Given the description of an element on the screen output the (x, y) to click on. 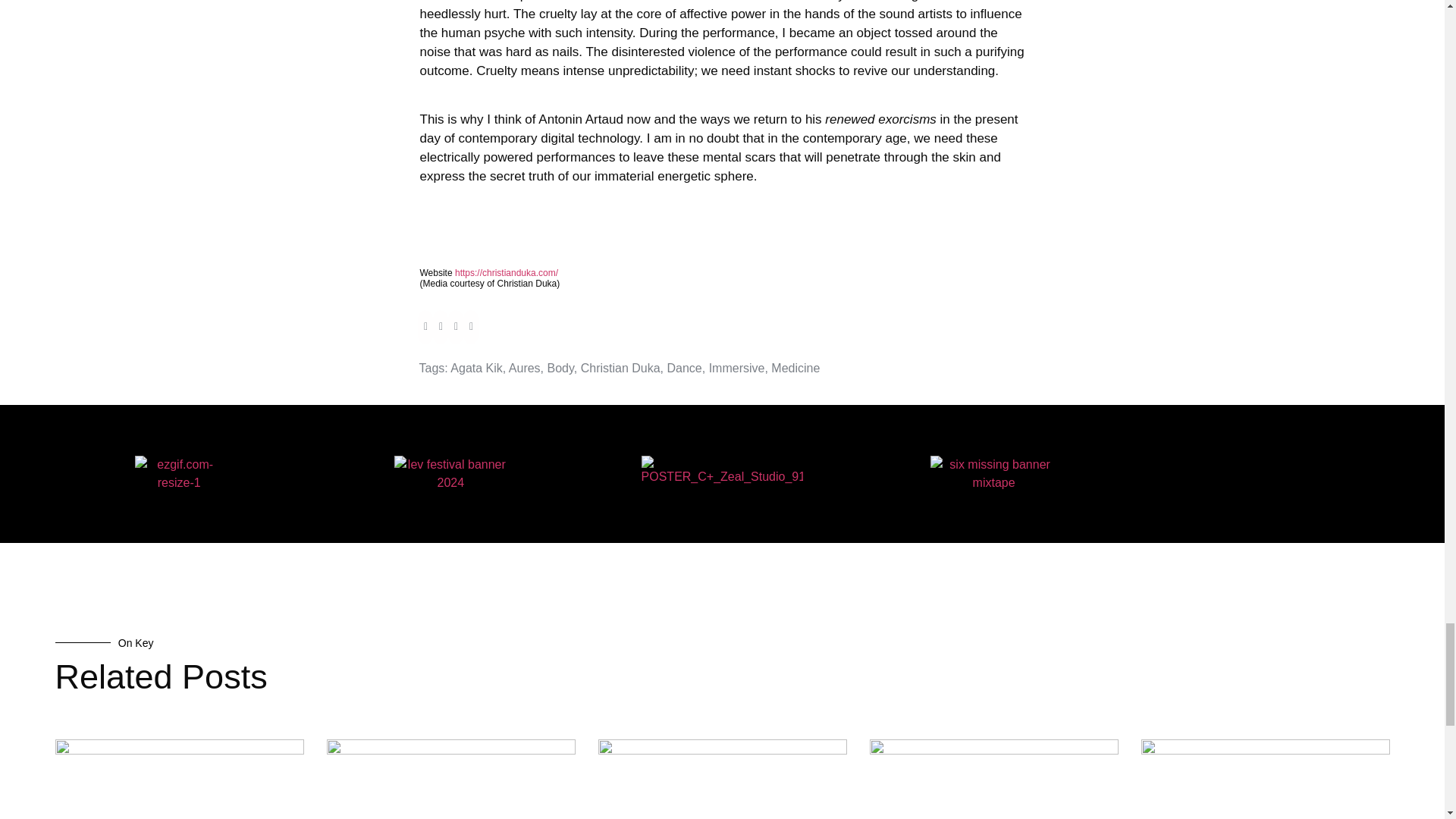
ezgif.com-resize-1 (179, 473)
ezgif-1-3803018b25 (450, 473)
ezgif-1-2da2a536b5 (993, 473)
